Given the description of an element on the screen output the (x, y) to click on. 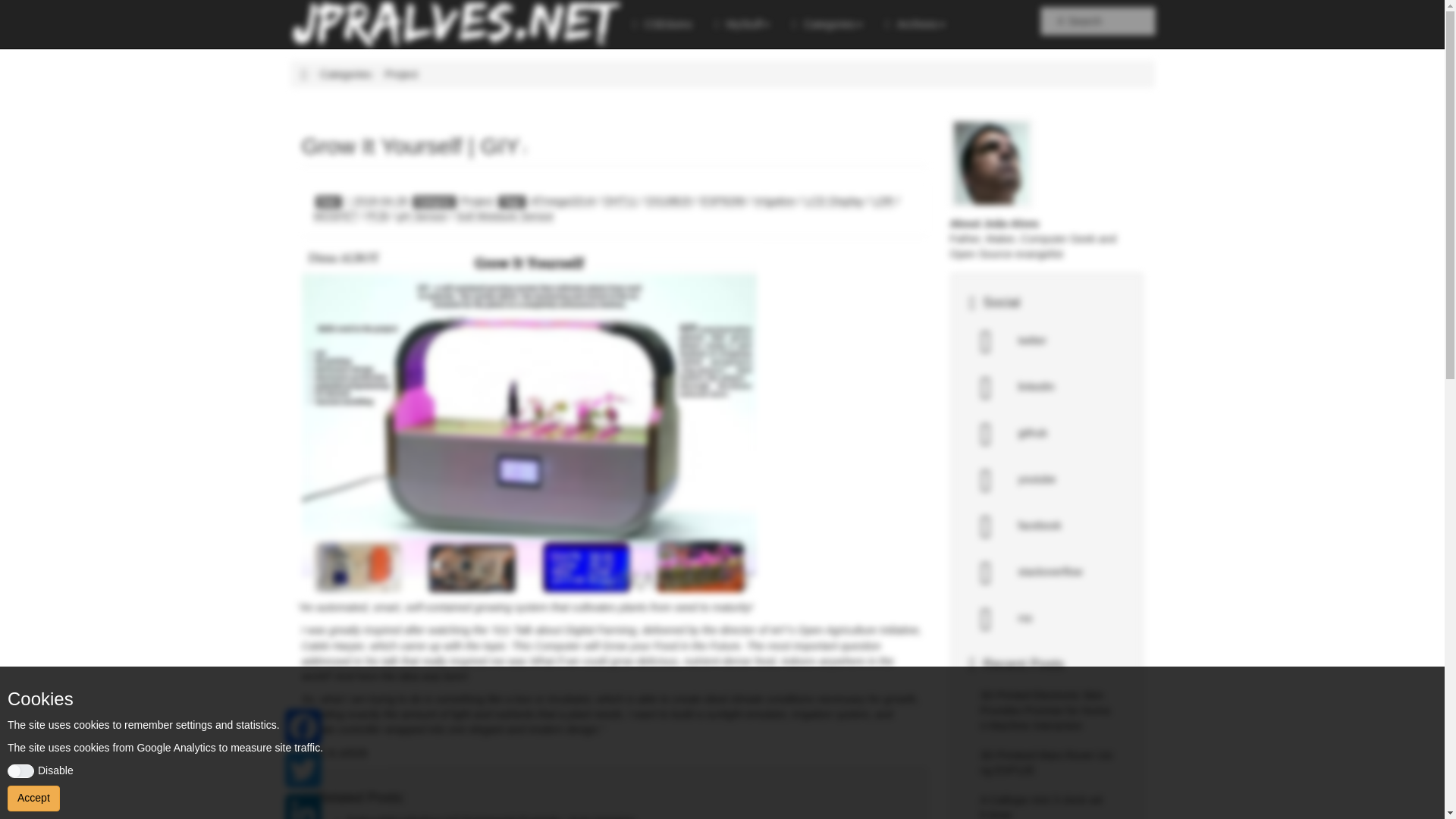
jpralves.net Categories (345, 73)
CSEduino (662, 24)
DS18B20 (669, 201)
Irrigation (774, 201)
Project (478, 201)
Archives (915, 24)
LDR (882, 201)
Categories (345, 73)
jpralves.net (304, 73)
LCD Display (834, 201)
Categories (827, 24)
ESP8266 (722, 201)
Accept (33, 798)
DHT11 (620, 201)
2018-04-28 (376, 201)
